Given the description of an element on the screen output the (x, y) to click on. 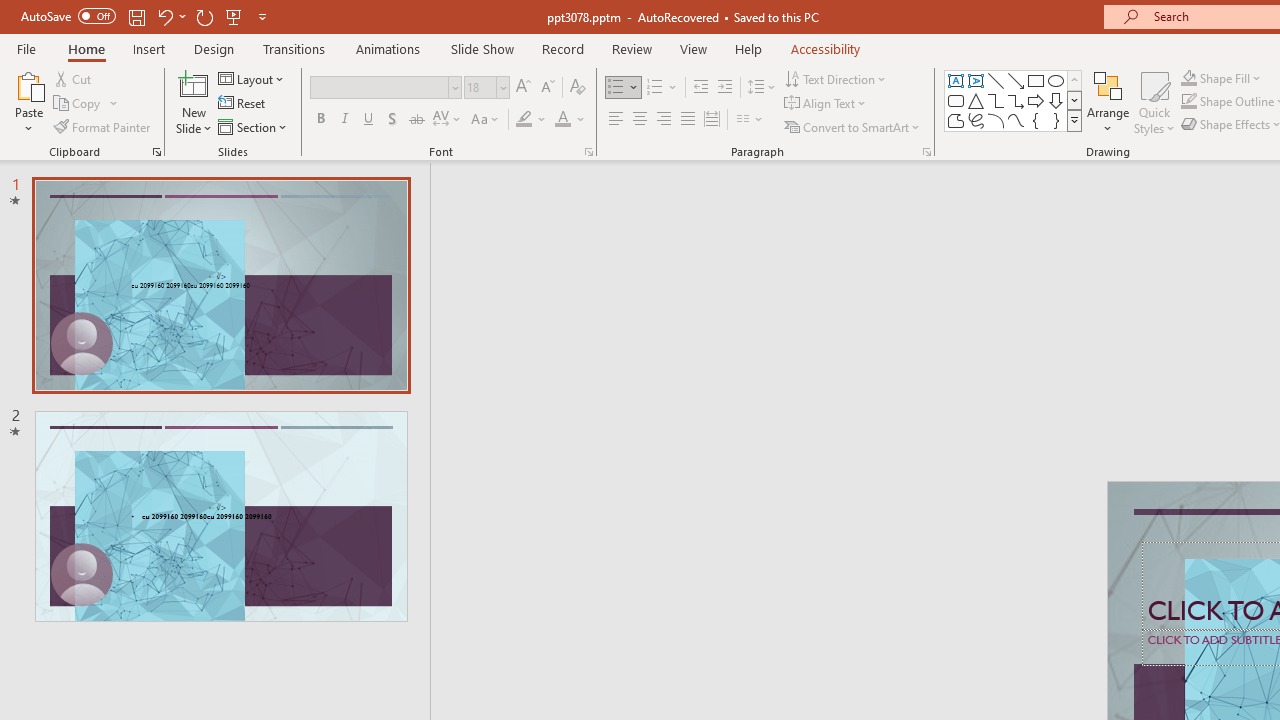
Oval (1055, 80)
Paste (28, 102)
Shadow (392, 119)
Right Brace (1055, 120)
Office Clipboard... (156, 151)
Paste (28, 84)
Center (639, 119)
Strikethrough (416, 119)
Numbering (654, 87)
Text Highlight Color (531, 119)
Curve (1016, 120)
